Given the description of an element on the screen output the (x, y) to click on. 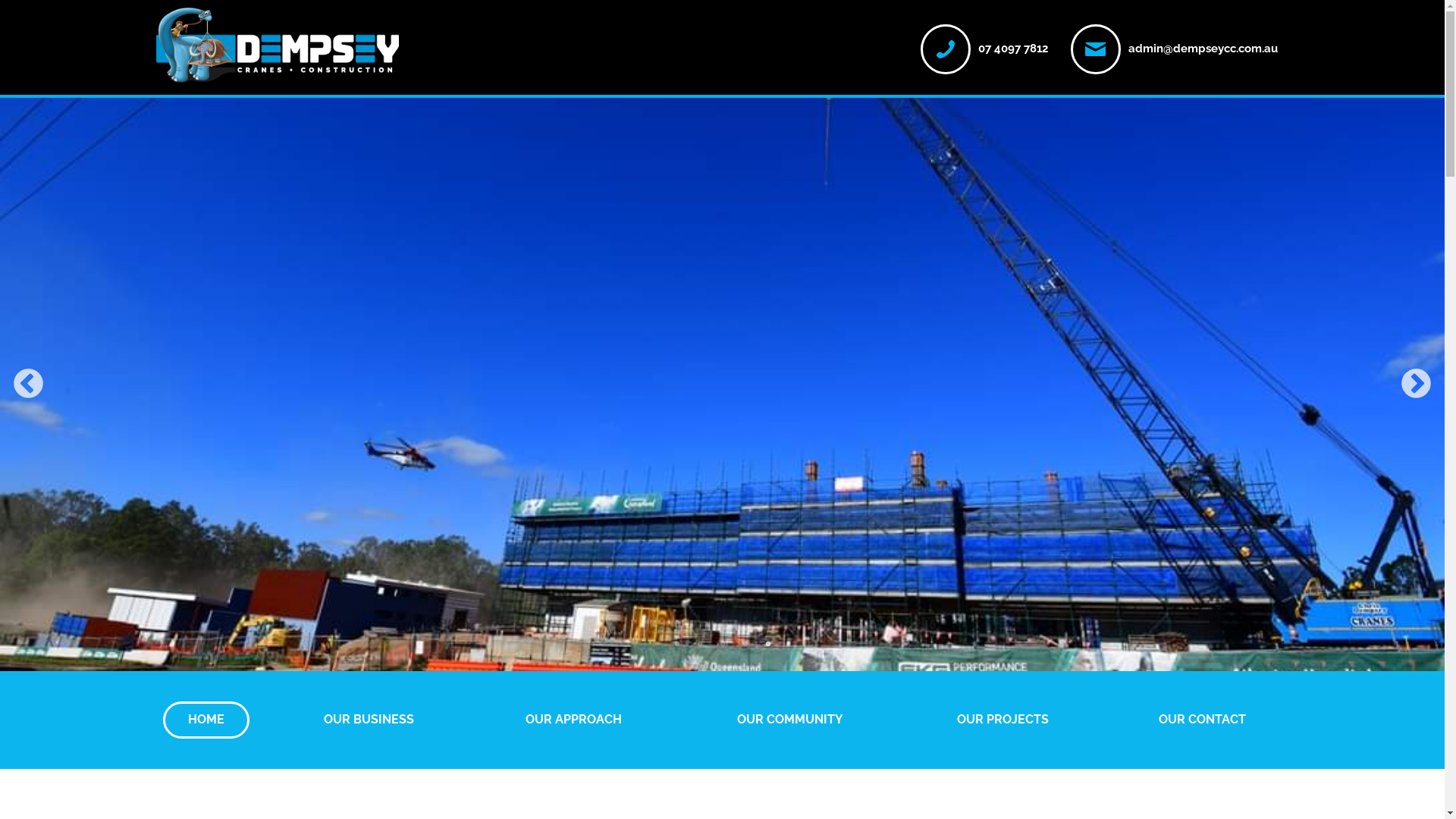
OUR BUSINESS Element type: text (368, 719)
4 Element type: text (744, 644)
5 Element type: text (767, 644)
admin@dempseycc.com.au Element type: text (1202, 47)
OUR PROJECTS Element type: text (1002, 719)
2 Element type: text (698, 644)
OUR CONTACT Element type: text (1201, 719)
Next Element type: text (1416, 384)
07 4097 7812 Element type: text (1013, 47)
3 Element type: text (721, 644)
HOME Element type: text (206, 719)
Previous Element type: text (28, 384)
OUR COMMUNITY Element type: text (789, 719)
1 Element type: text (676, 644)
OUR APPROACH Element type: text (573, 719)
